Given the description of an element on the screen output the (x, y) to click on. 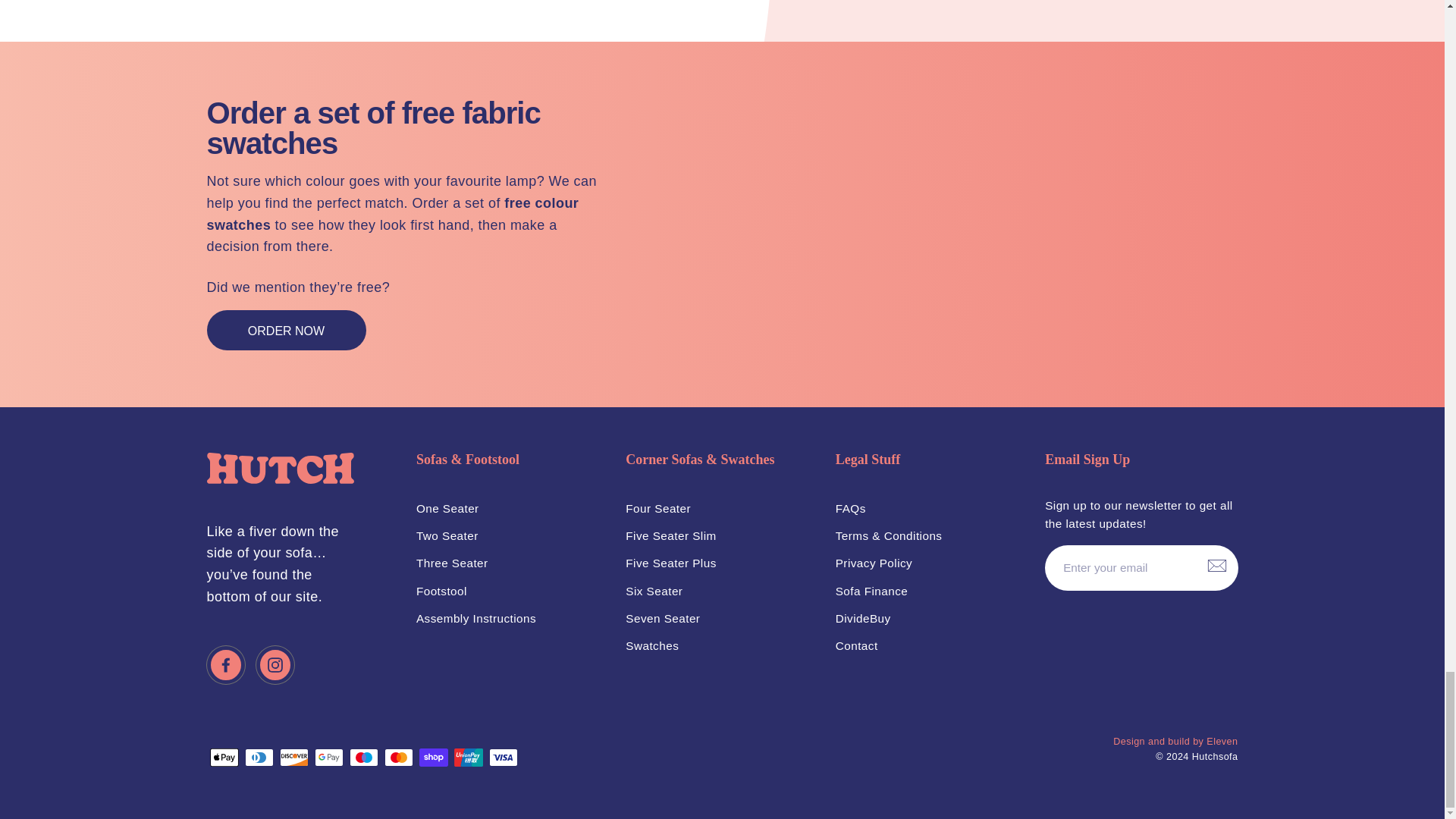
Shop Pay (432, 757)
Visa (501, 757)
Hutchsofa on Facebook (225, 664)
Diners Club (258, 757)
Discover (293, 757)
Apple Pay (223, 757)
Mastercard (398, 757)
Maestro (363, 757)
Google Pay (328, 757)
Union Pay (466, 757)
